Given the description of an element on the screen output the (x, y) to click on. 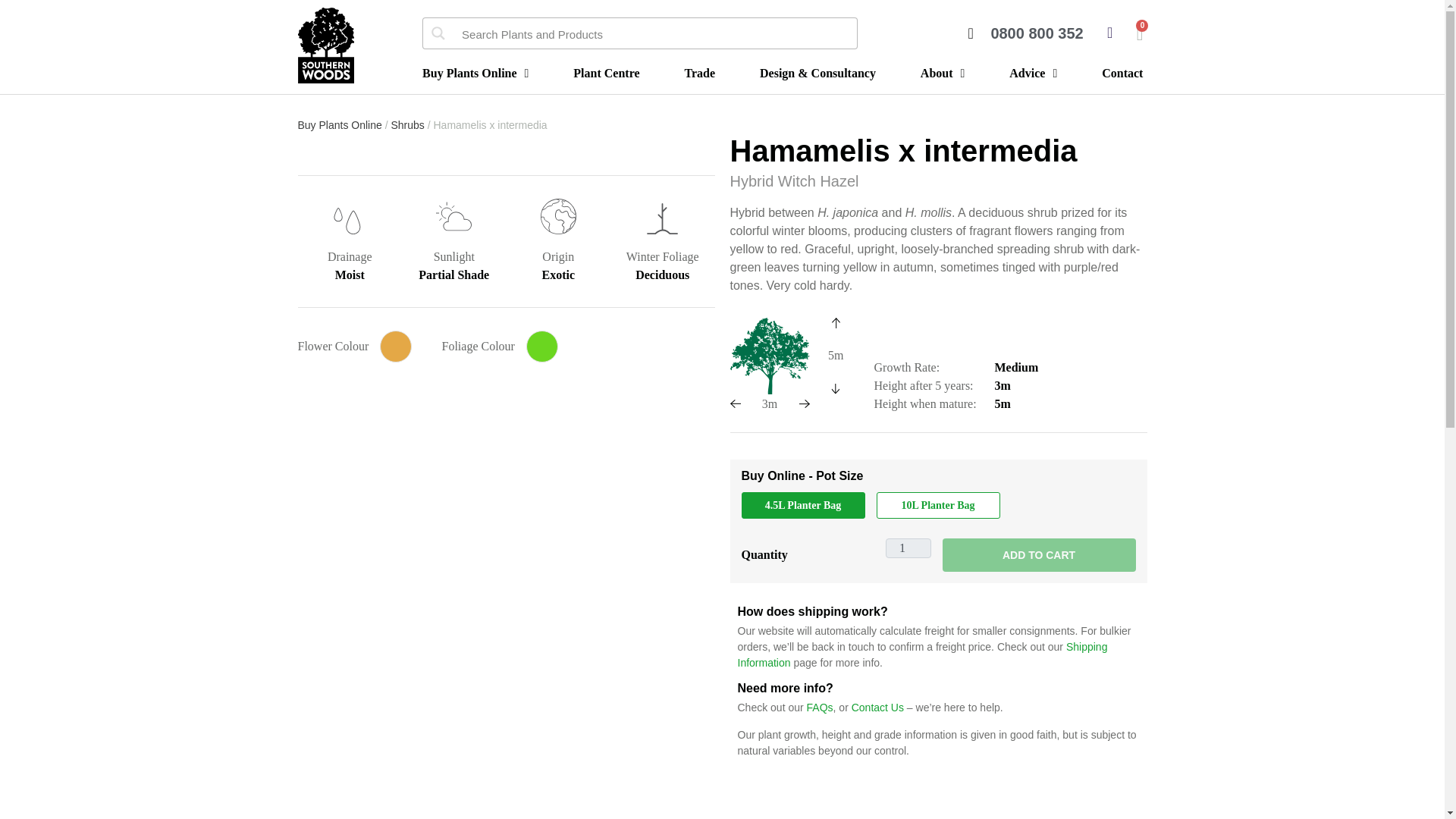
Buy Plants Online (475, 71)
1 (908, 547)
0800 800 352 (1025, 32)
